Given the description of an element on the screen output the (x, y) to click on. 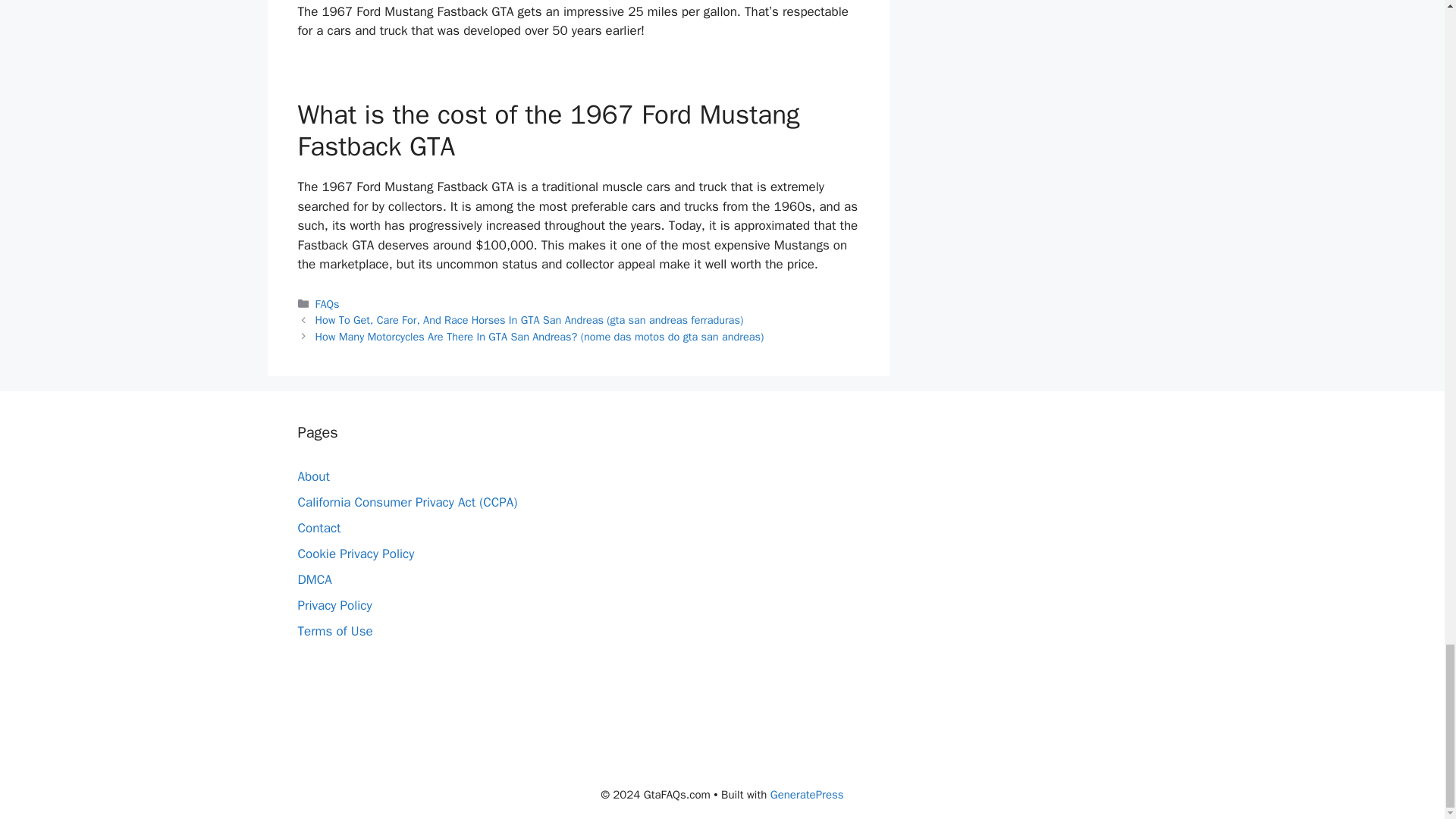
Next (539, 336)
FAQs (327, 304)
Previous (529, 319)
